Given the description of an element on the screen output the (x, y) to click on. 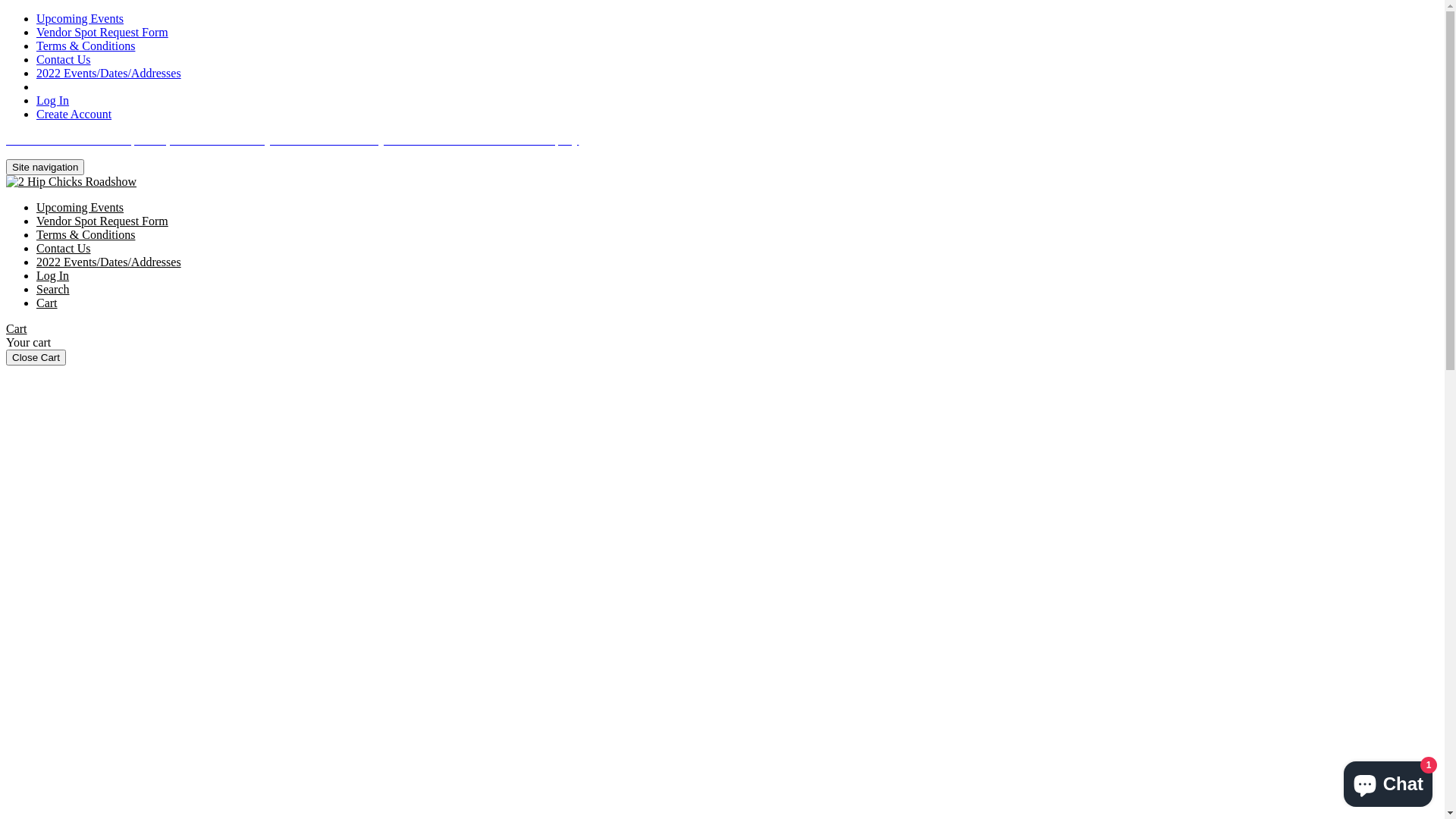
Cart Element type: text (46, 302)
Vendor Spot Request Form Element type: text (102, 220)
Upcoming Events Element type: text (79, 18)
Cart Element type: text (16, 328)
Contact Us Element type: text (63, 59)
Create Account Element type: text (73, 113)
2022 Events/Dates/Addresses Element type: text (108, 72)
Shopify online store chat Element type: hover (1388, 780)
Upcoming Events Element type: text (79, 206)
Site navigation Element type: text (45, 167)
Log In Element type: text (52, 275)
Terms & Conditions Element type: text (85, 45)
2022 Events/Dates/Addresses Element type: text (108, 261)
Vendor Spot Request Form Element type: text (102, 31)
Contact Us Element type: text (63, 247)
Terms & Conditions Element type: text (85, 234)
Search Element type: text (52, 288)
Close Cart Element type: text (35, 357)
Log In Element type: text (52, 100)
